Given the description of an element on the screen output the (x, y) to click on. 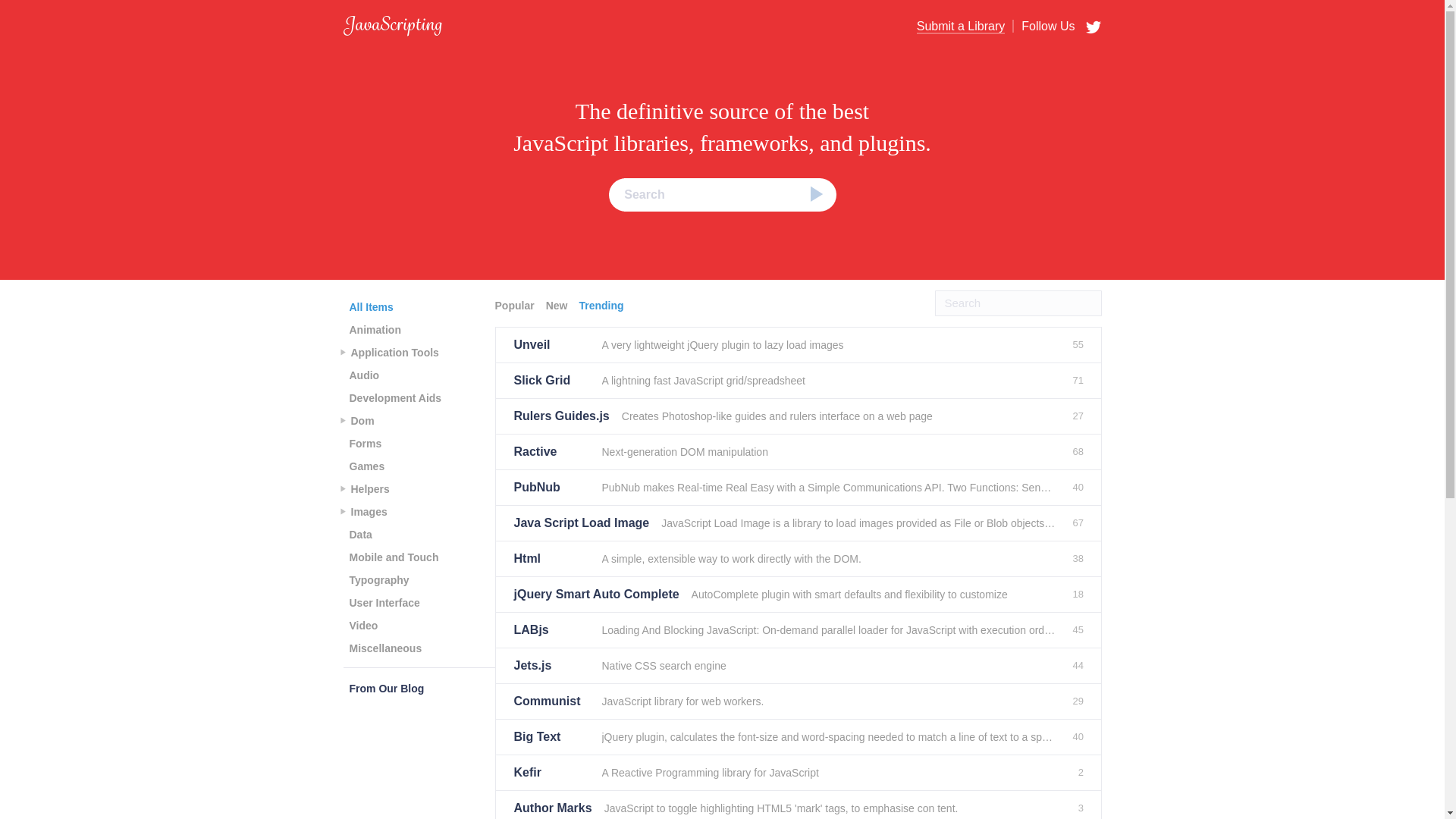
Slick Grid (551, 380)
Audio (363, 374)
User Interface (383, 602)
Popular (516, 305)
Miscellaneous (385, 648)
Trending (602, 305)
Mobile and Touch (393, 557)
Rulers Guides.js (561, 416)
All Items (370, 306)
Submit a Library (961, 26)
